Given the description of an element on the screen output the (x, y) to click on. 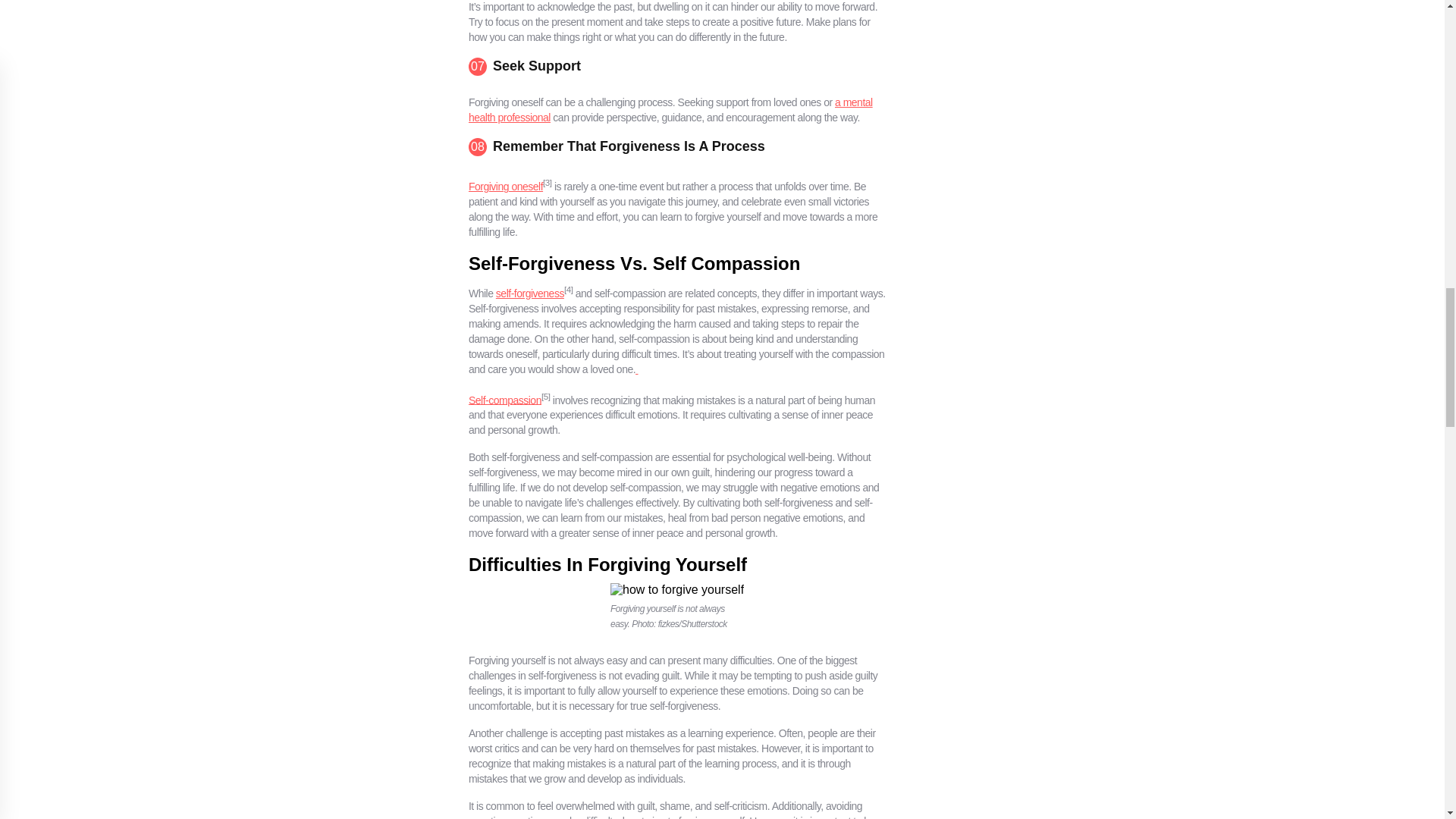
a mental health professional (670, 109)
Forgiving oneself (505, 186)
self-forgiveness (530, 293)
Self-compassion (504, 399)
